Given the description of an element on the screen output the (x, y) to click on. 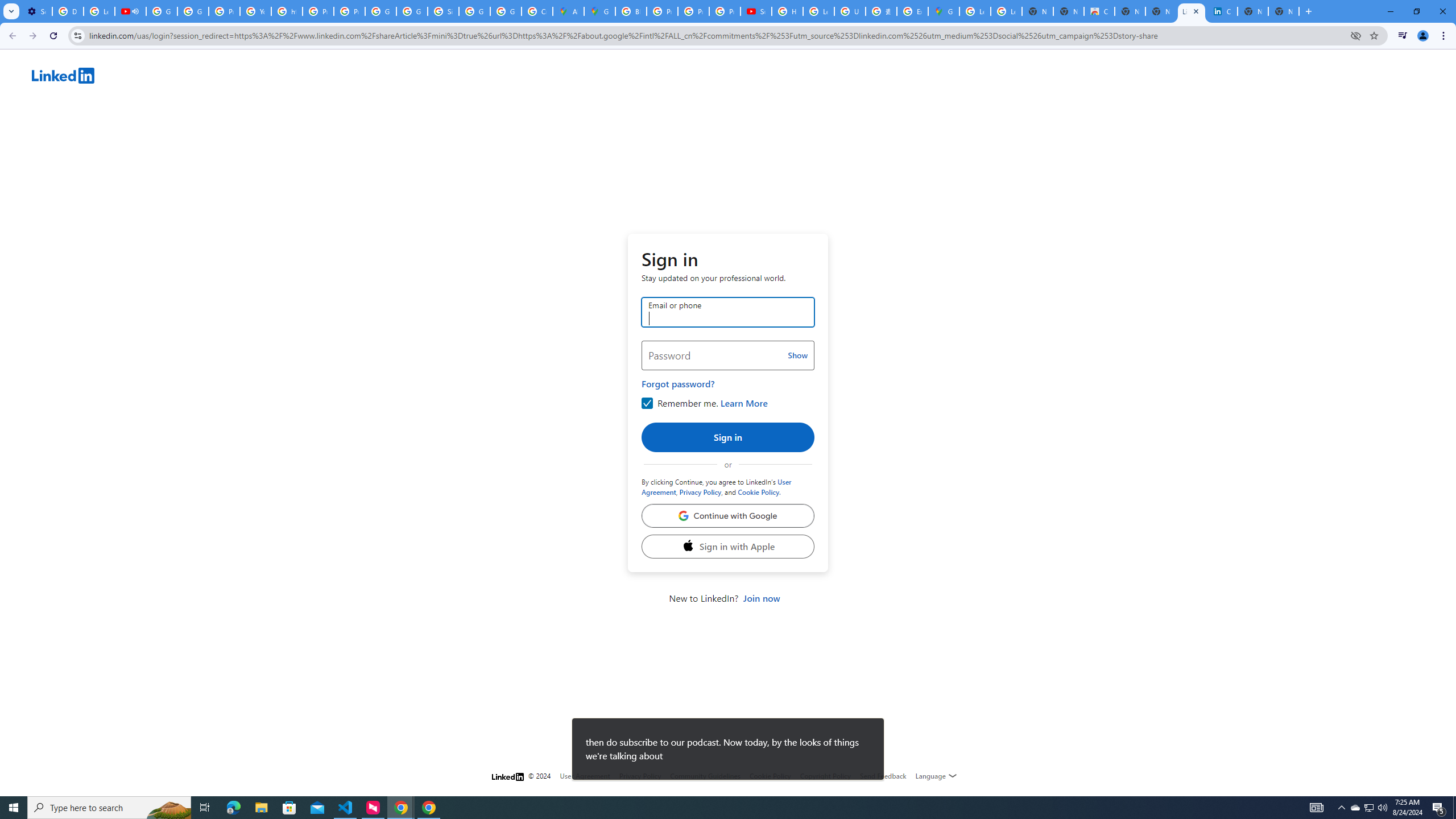
Create your Google Account (536, 11)
AutomationID: linkedin-logo (63, 75)
Learn how to find your photos - Google Photos Help (98, 11)
LinkedIn Login, Sign in | LinkedIn (1190, 11)
Forgot password? (678, 383)
Sign in - Google Accounts (443, 11)
Explore new street-level details - Google Maps Help (912, 11)
Sign in with Apple (727, 546)
Settings - Customize profile (36, 11)
Subscriptions - YouTube (756, 11)
